Given the description of an element on the screen output the (x, y) to click on. 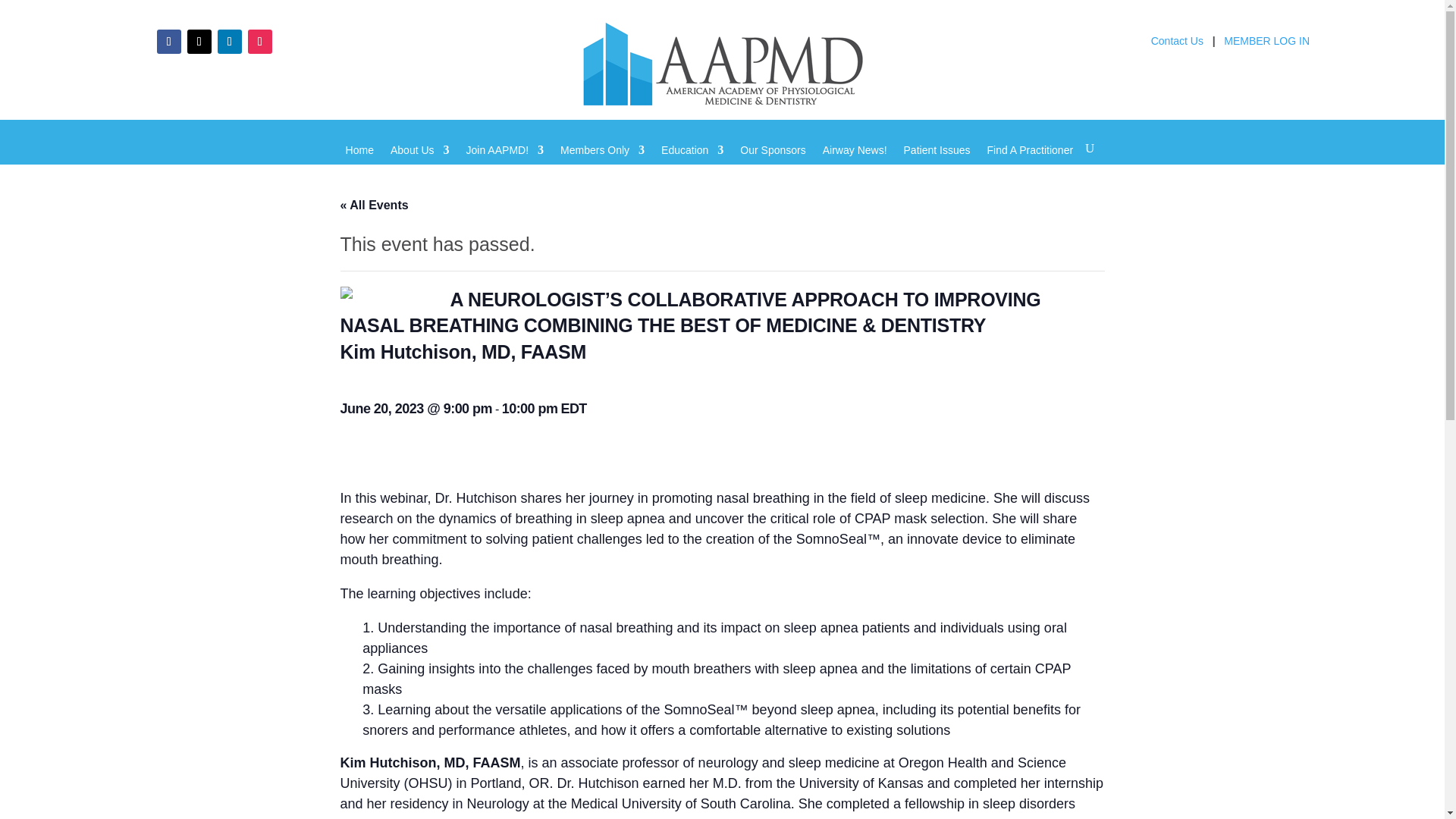
Follow on X (199, 41)
Members Only (602, 160)
MEMBER LOG IN (1266, 44)
Education (692, 160)
Join AAPMD! (504, 160)
Contact Us (1177, 44)
Follow on Instagram (259, 41)
Follow on LinkedIn (228, 41)
About Us (419, 160)
Follow on Facebook (168, 41)
